Given the description of an element on the screen output the (x, y) to click on. 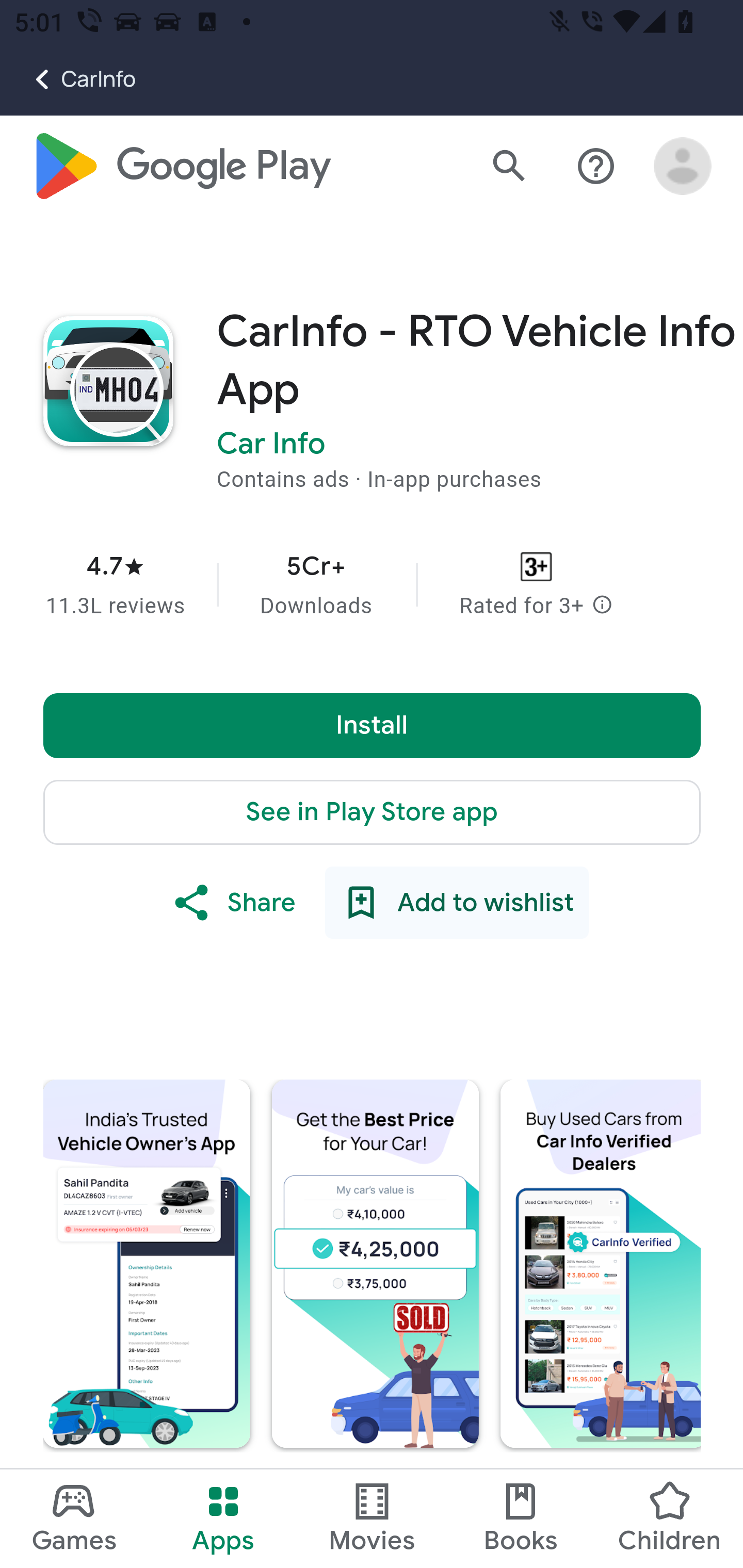
CarInfo (67, 79)
Google Play logo (180, 166)
Search (508, 166)
Help centre (596, 166)
Open account menu (682, 166)
Car Info (271, 445)
More info about this content rating (601, 606)
Install (372, 726)
See in Play Store app (372, 812)
Share (233, 903)
Add to wishlist (455, 903)
Screenshot image (147, 1263)
Screenshot image (375, 1263)
Screenshot image (601, 1263)
Games (74, 1518)
Apps (222, 1518)
Movies (372, 1518)
Books (520, 1518)
Children (668, 1518)
